Given the description of an element on the screen output the (x, y) to click on. 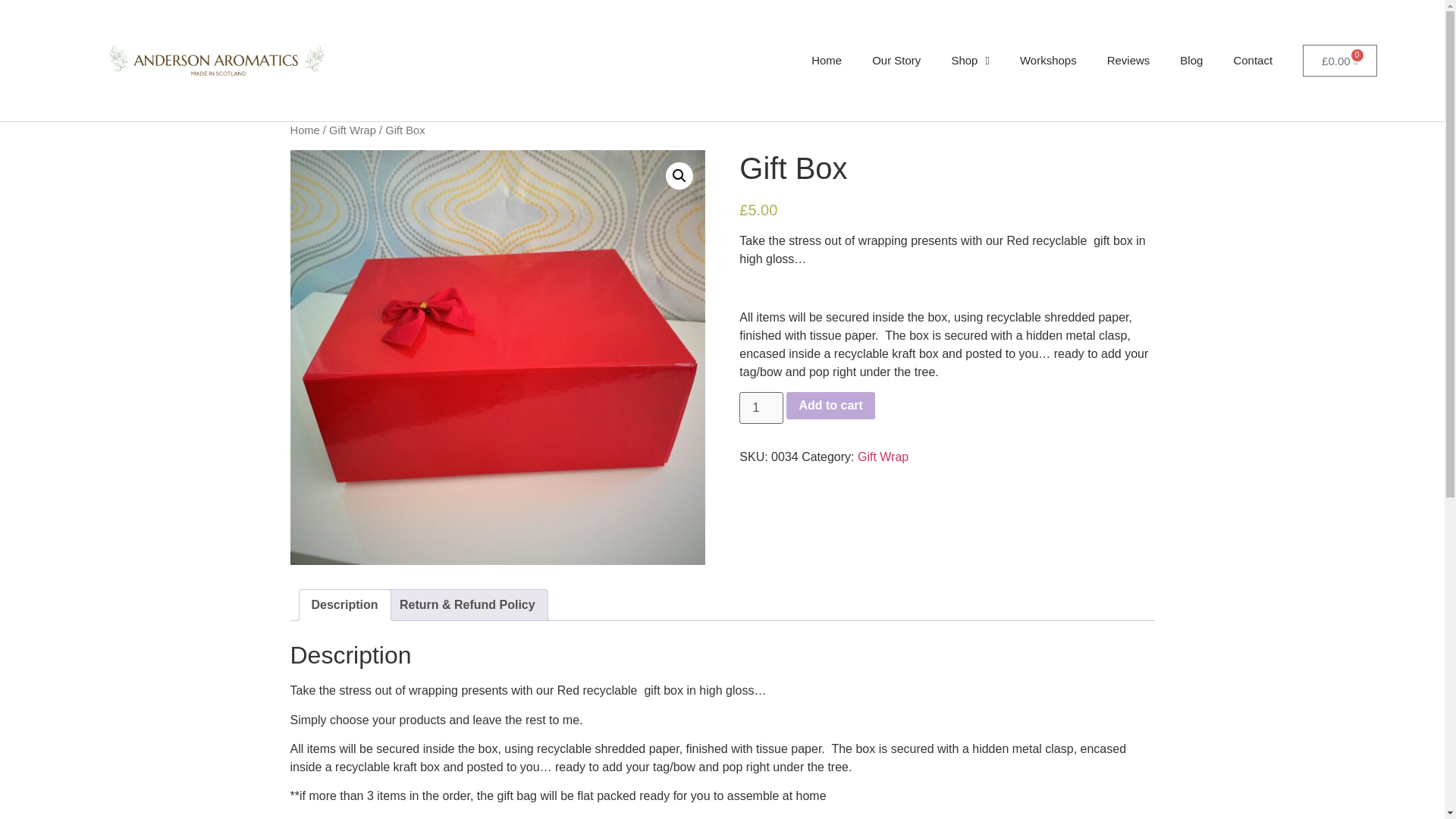
1 (761, 408)
